Given the description of an element on the screen output the (x, y) to click on. 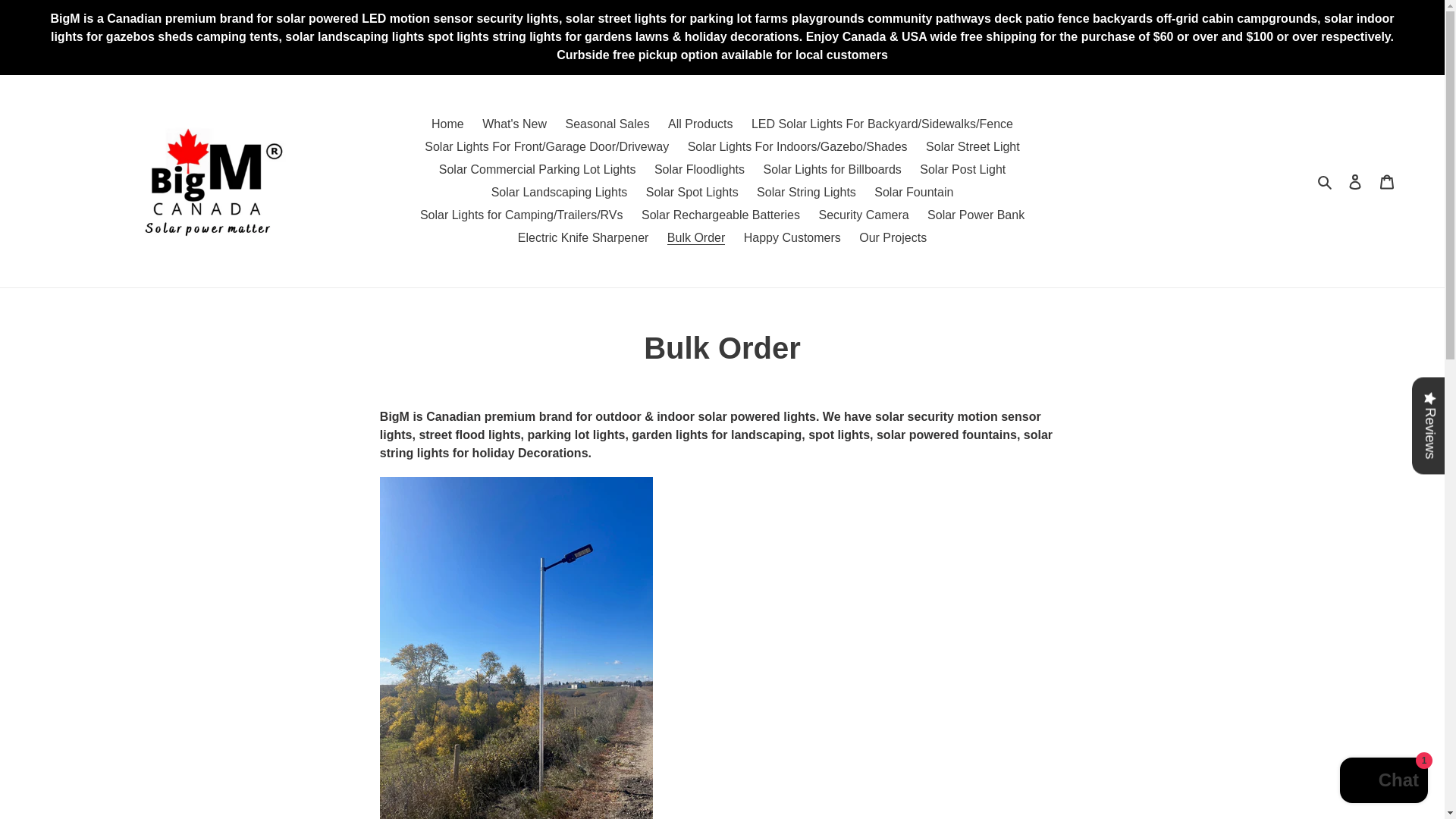
Solar Street Light (972, 146)
Search (1326, 180)
Electric Knife Sharpener (583, 237)
Home (447, 124)
Log in (1355, 181)
Solar Post Light (962, 169)
Cart (1387, 181)
Solar Power Bank (976, 214)
Solar Spot Lights (692, 191)
Solar Rechargeable Batteries (720, 214)
Solar Commercial Parking Lot Lights (536, 169)
Seasonal Sales (606, 124)
Solar Floodlights (699, 169)
All Products (700, 124)
Shopify online store chat (1383, 781)
